Given the description of an element on the screen output the (x, y) to click on. 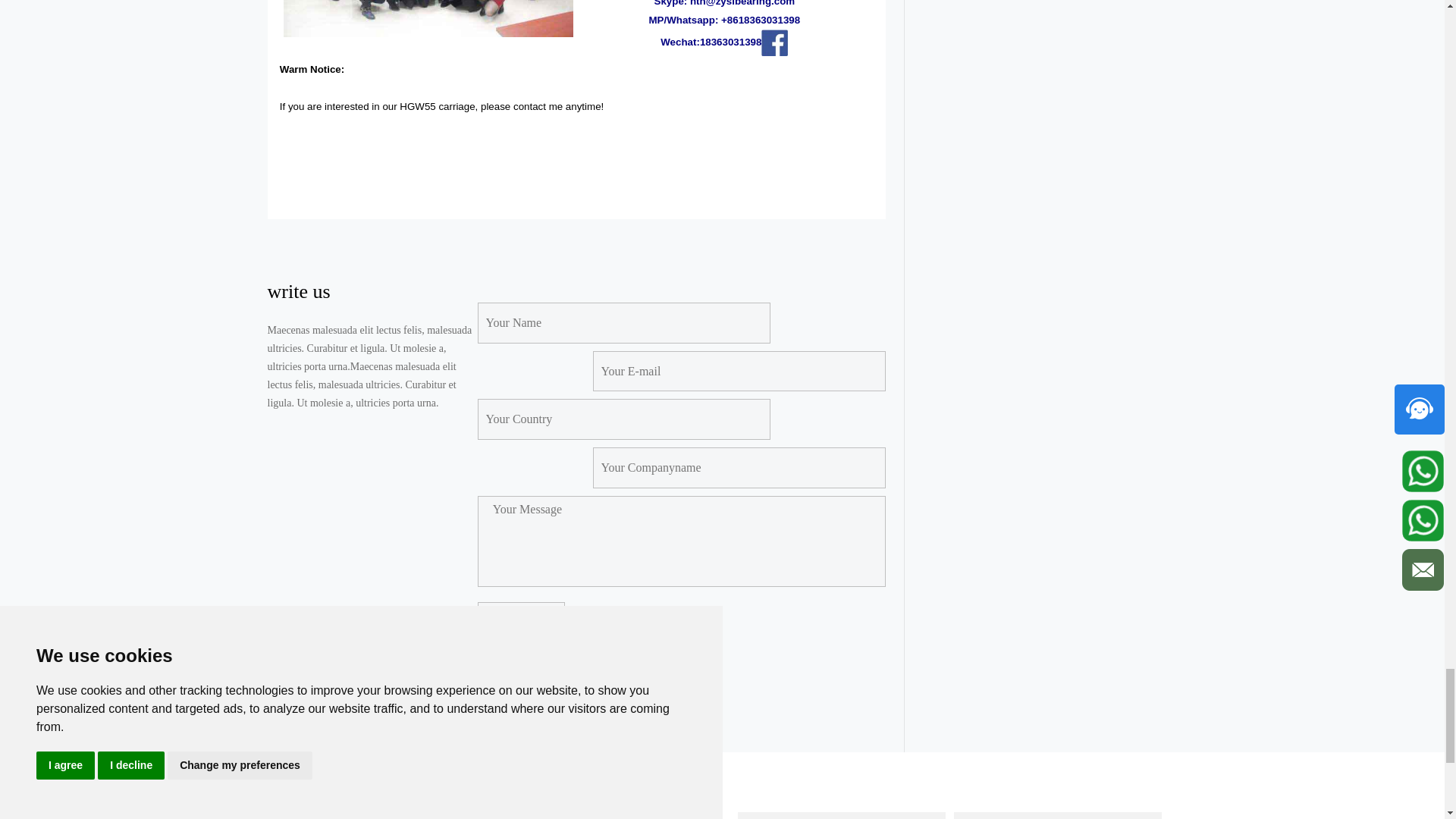
Send a Message (520, 618)
